Given the description of an element on the screen output the (x, y) to click on. 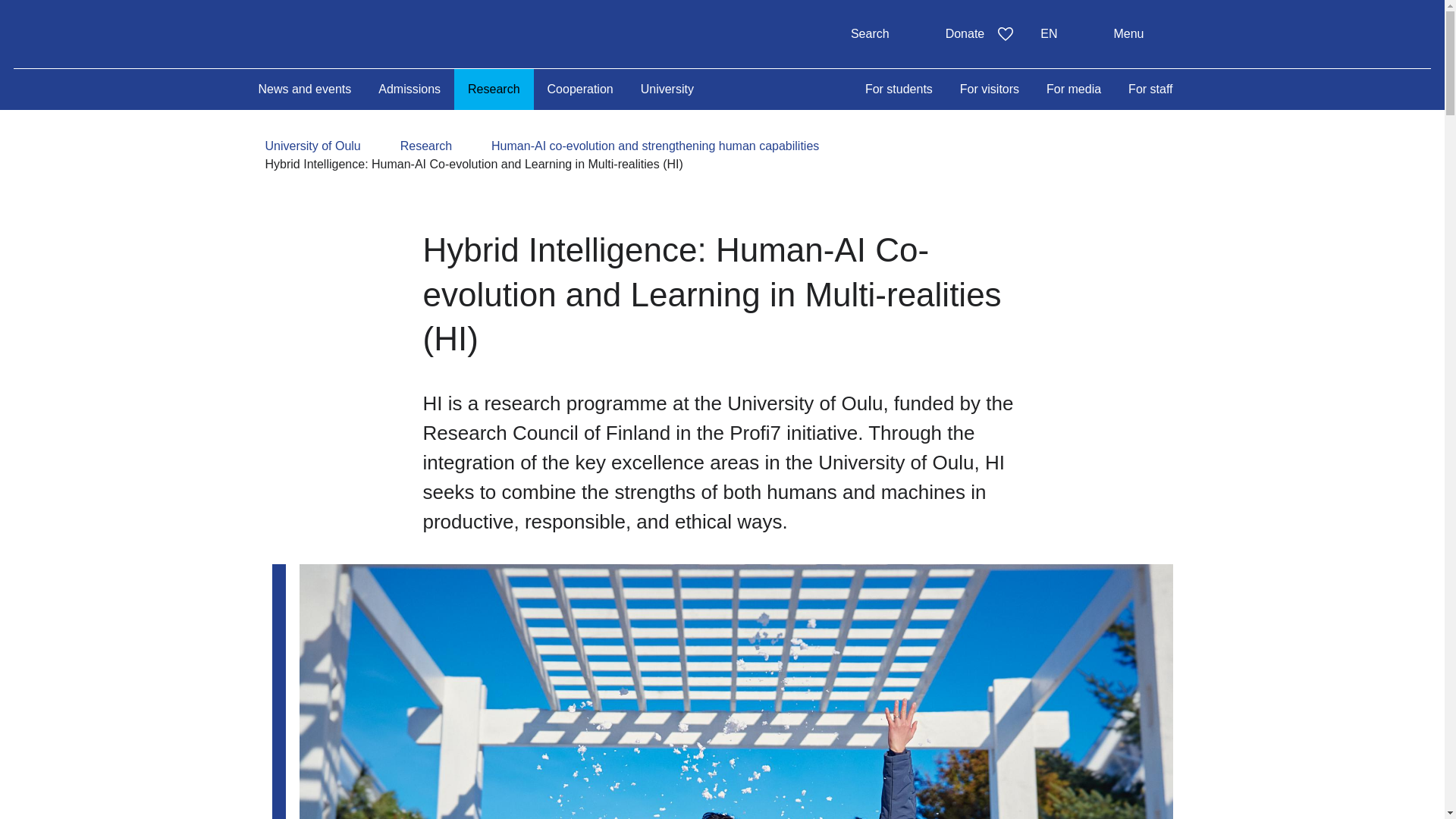
University of Oulu front page (378, 33)
Search (884, 33)
University of Oulu front page (378, 33)
Donate (1062, 33)
University of Oulu front page (979, 33)
